Given the description of an element on the screen output the (x, y) to click on. 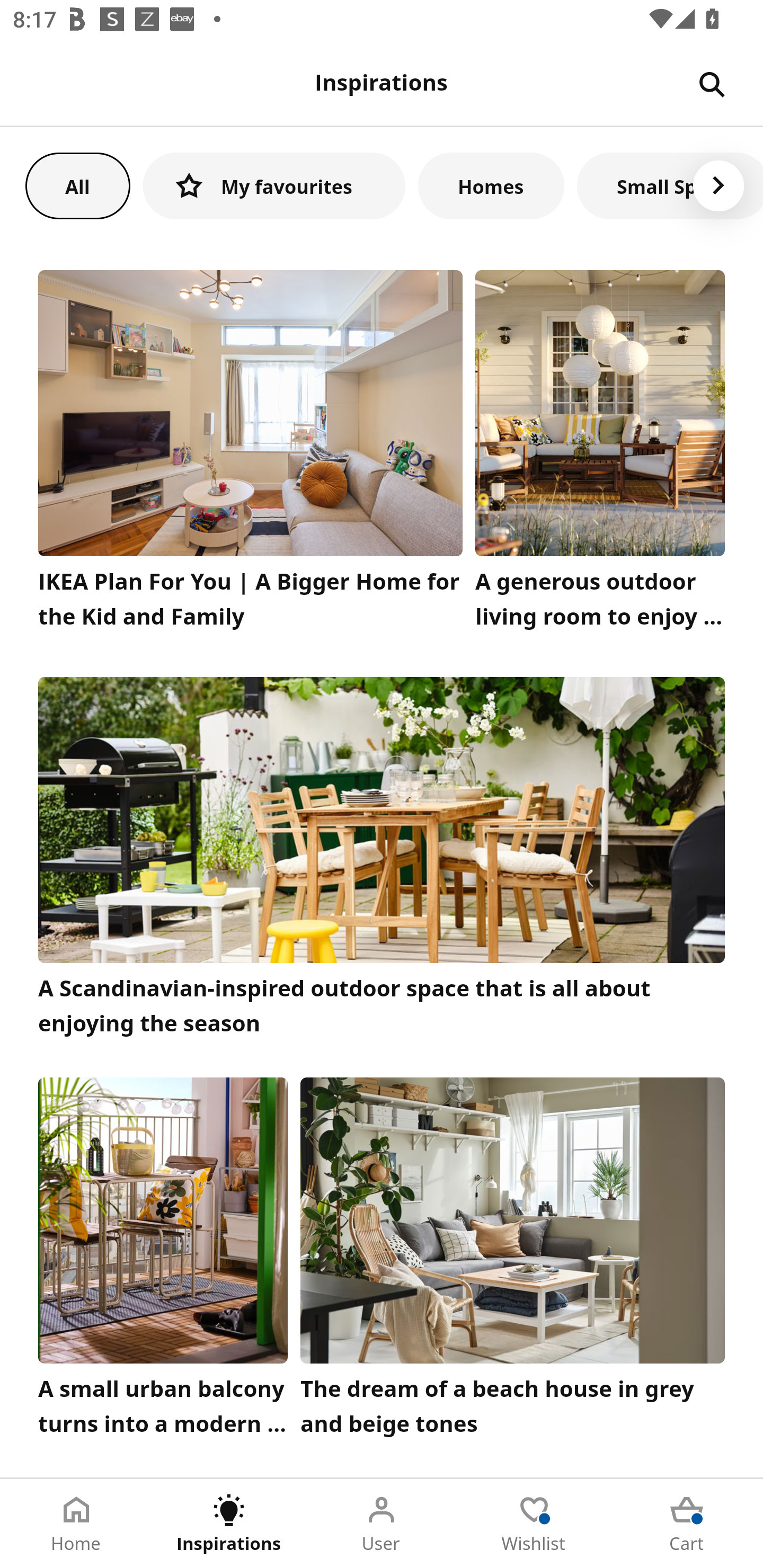
All (77, 185)
My favourites (274, 185)
Homes (491, 185)
The dream of a beach house in grey and beige tones (512, 1261)
Home
Tab 1 of 5 (76, 1522)
Inspirations
Tab 2 of 5 (228, 1522)
User
Tab 3 of 5 (381, 1522)
Wishlist
Tab 4 of 5 (533, 1522)
Cart
Tab 5 of 5 (686, 1522)
